Given the description of an element on the screen output the (x, y) to click on. 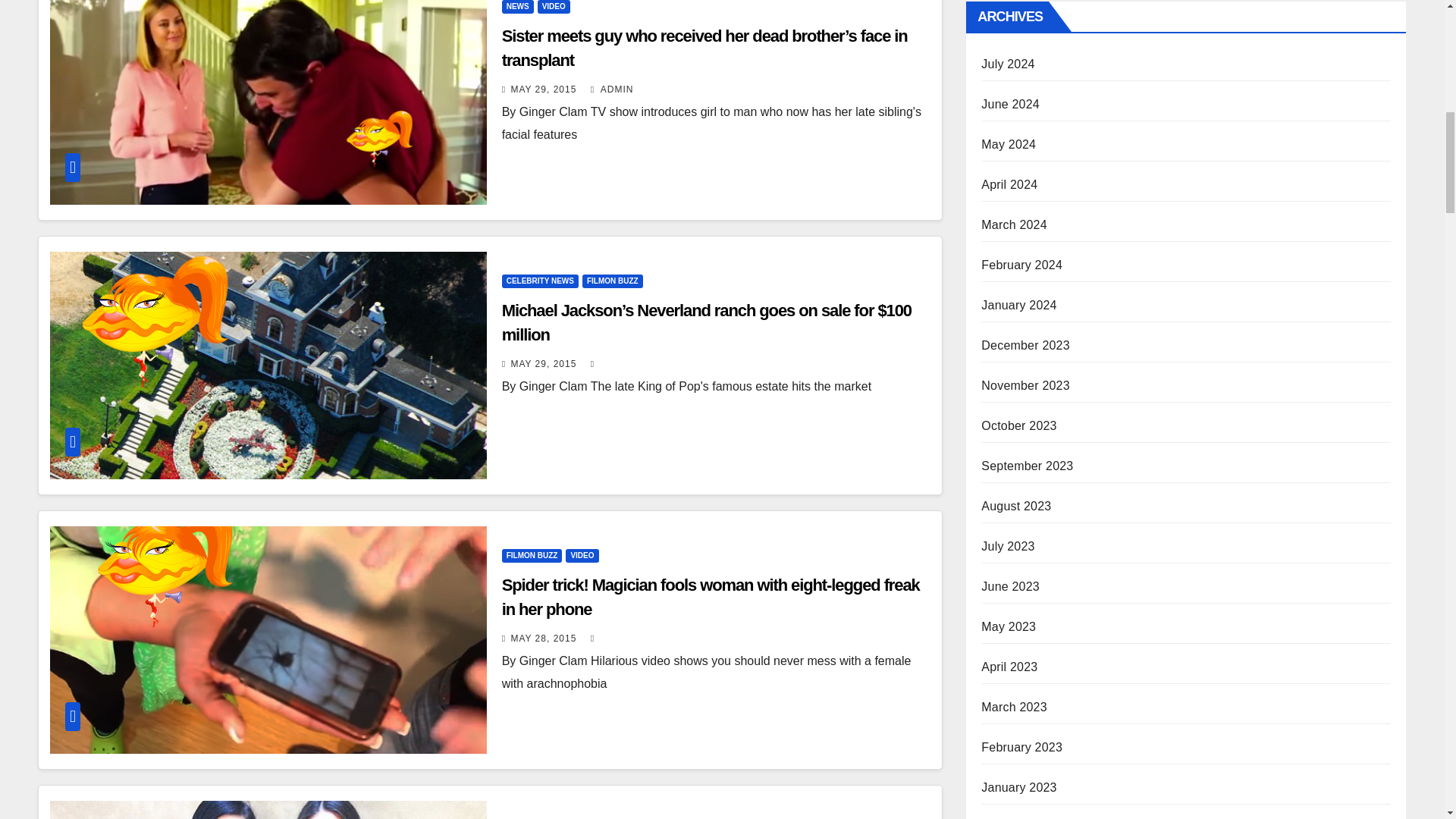
CELEBRITY NEWS (540, 281)
FILMON BUZZ (612, 281)
ADMIN (612, 89)
MAY 29, 2015 (543, 89)
MAY 29, 2015 (543, 363)
NEWS (518, 6)
VIDEO (553, 6)
FILMON BUZZ (532, 555)
